Given the description of an element on the screen output the (x, y) to click on. 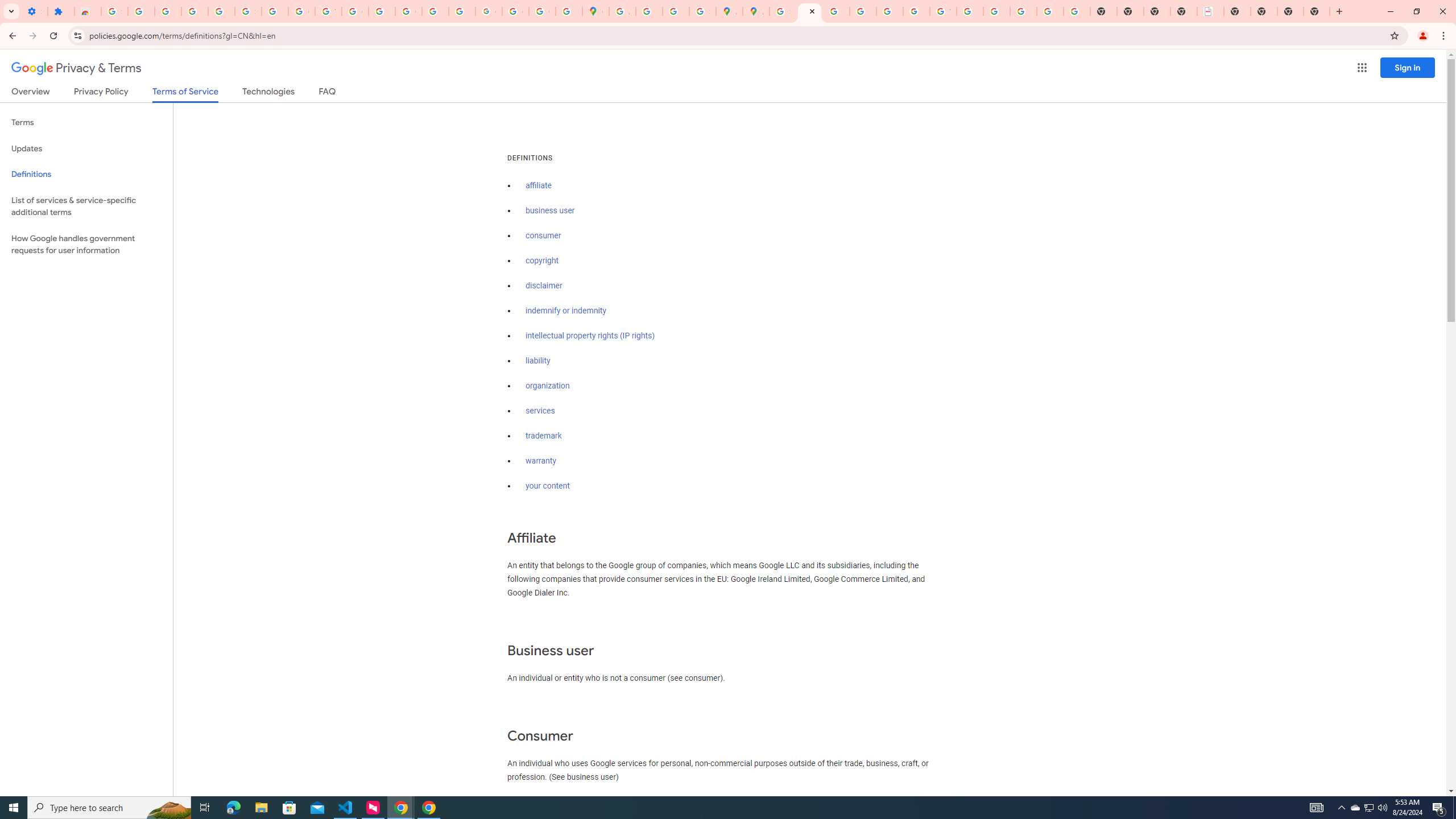
services (539, 411)
Privacy Help Center - Policies Help (862, 11)
Sign in - Google Accounts (114, 11)
New Tab (1236, 11)
YouTube (328, 11)
